Given the description of an element on the screen output the (x, y) to click on. 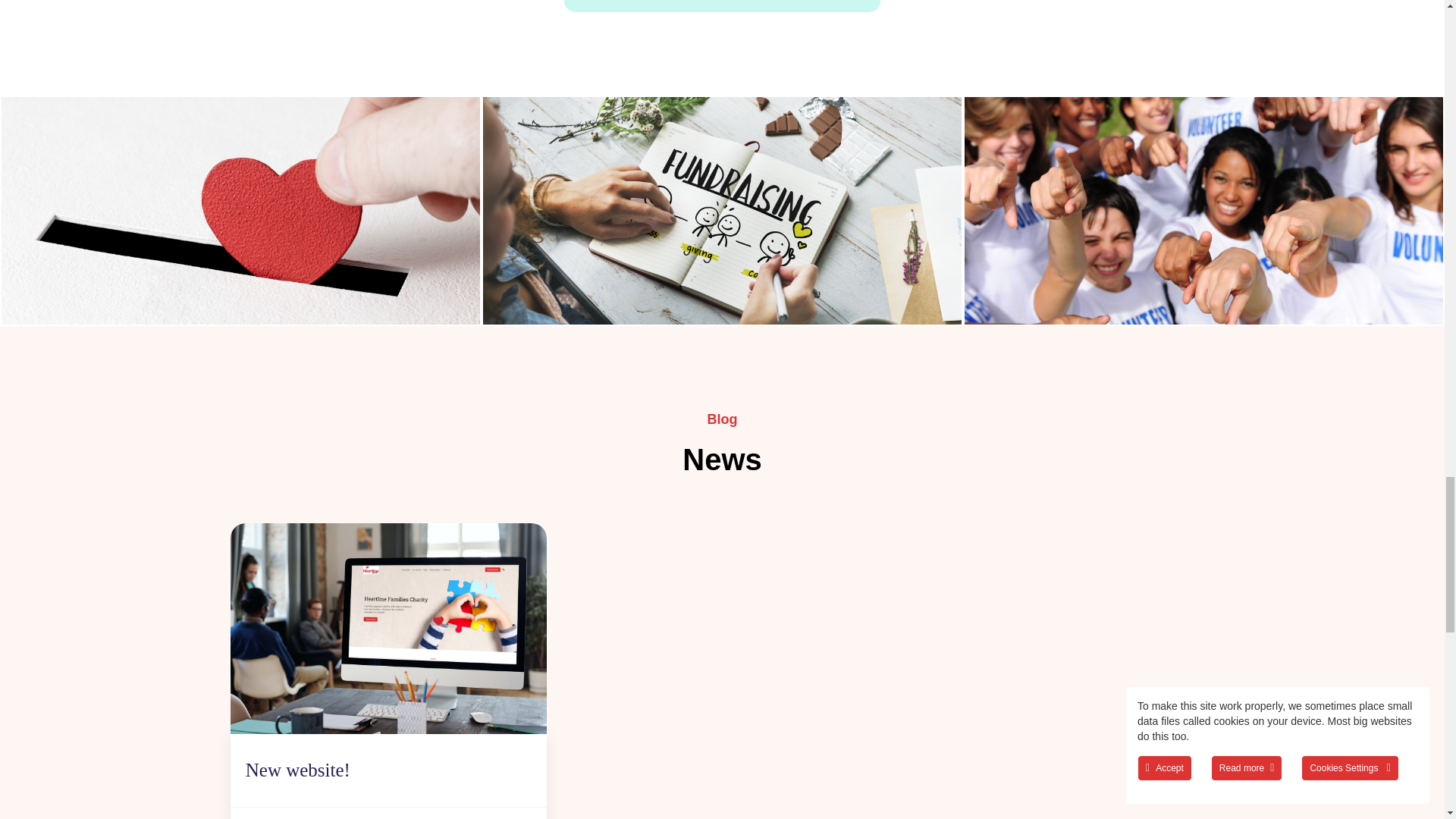
New website! (298, 770)
